Given the description of an element on the screen output the (x, y) to click on. 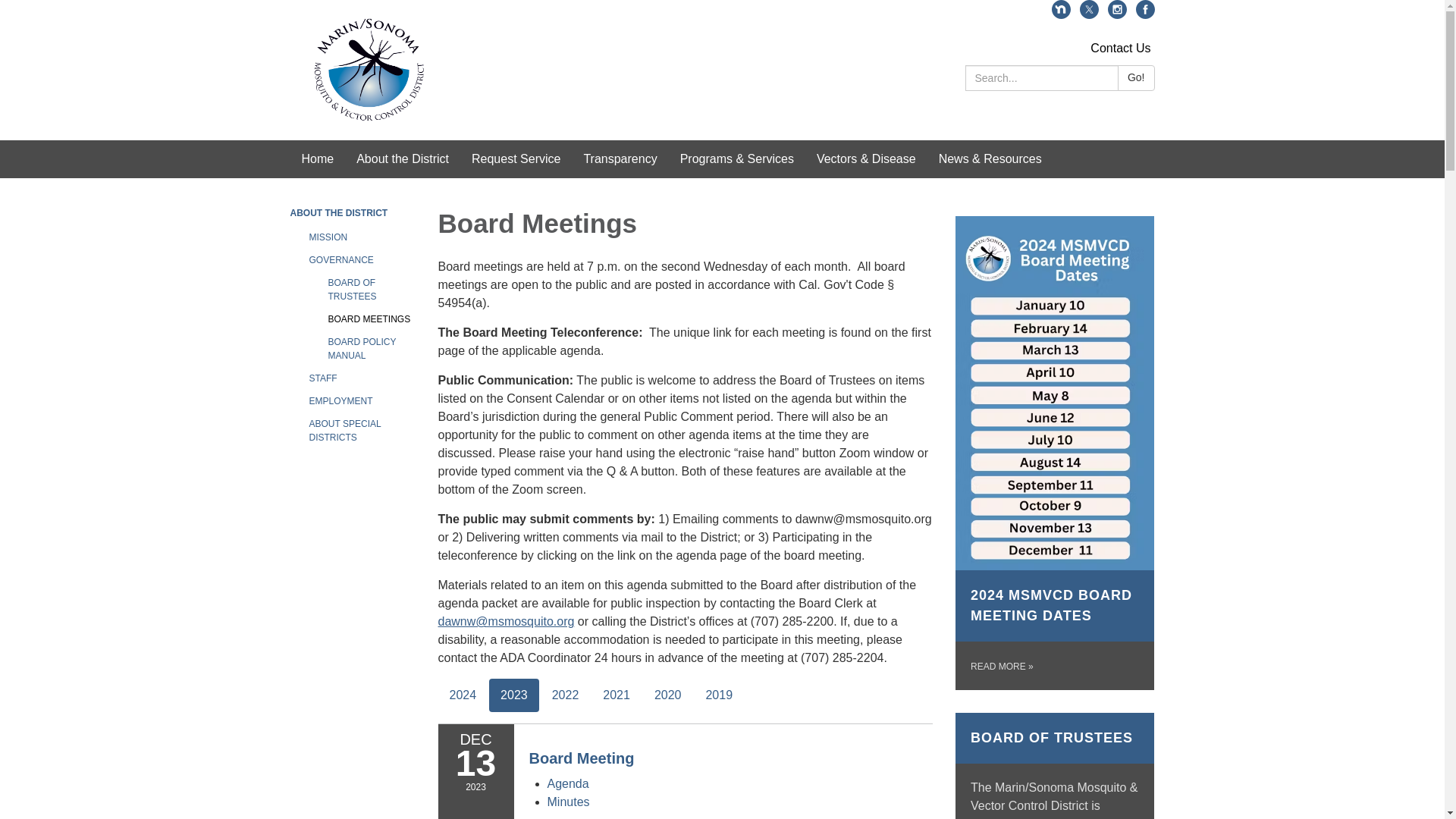
Go! (1136, 77)
Request Service (516, 159)
Home (317, 159)
Contact Us (1119, 47)
About the District (402, 159)
Transparency (620, 159)
